Given the description of an element on the screen output the (x, y) to click on. 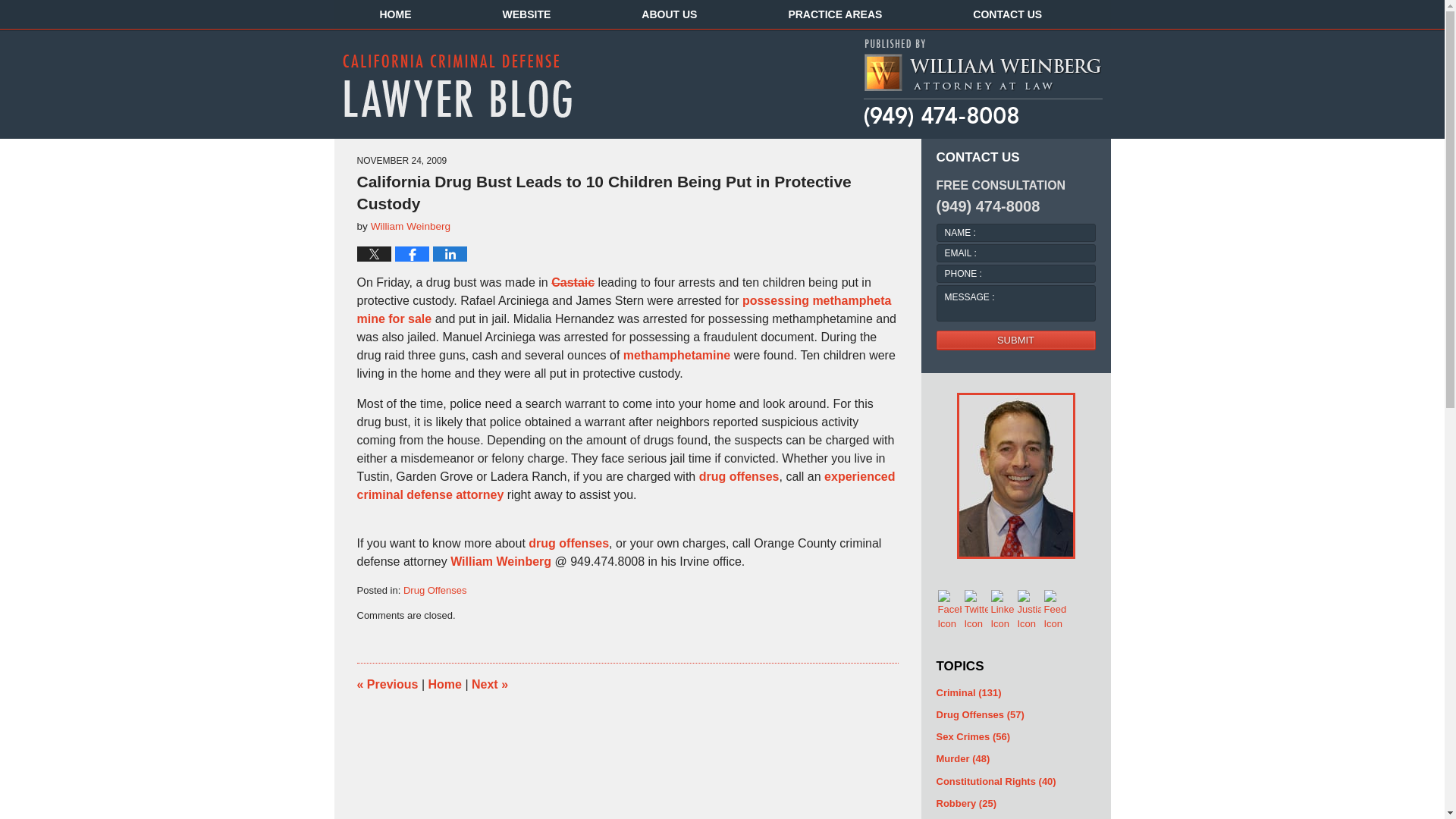
experienced criminal defense attorney (625, 485)
58-Year-Old Laguna Hills Woman Charged With Grand Theft (386, 684)
William Weinberg (500, 561)
drug offenses (738, 476)
View all posts in Drug Offenses (435, 590)
California Criminal Defense Lawyer Blog (456, 85)
Drug Offenses (435, 590)
William Weinberg (411, 225)
possessing methamphetamine for sale (623, 309)
CONTACT US (1007, 14)
